Given the description of an element on the screen output the (x, y) to click on. 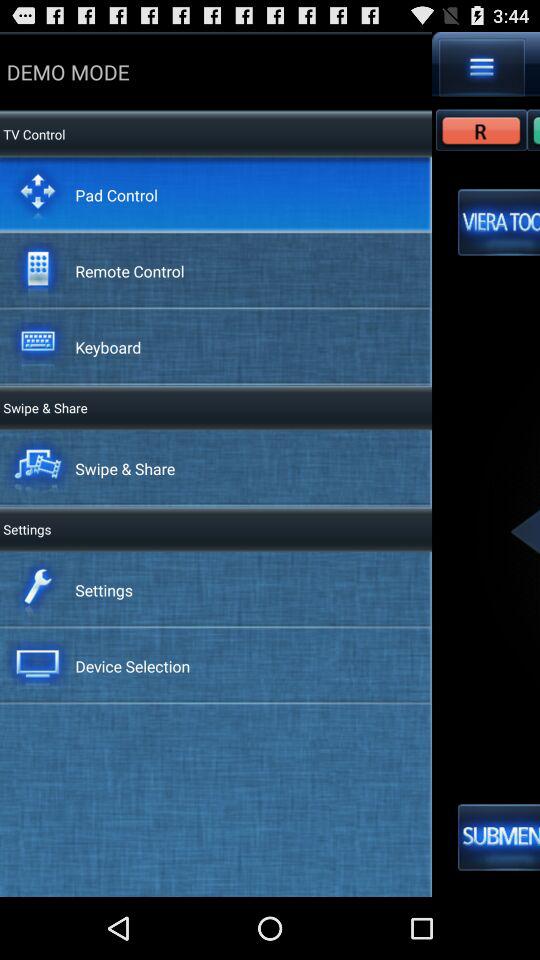
tap the  tv control item (32, 133)
